Given the description of an element on the screen output the (x, y) to click on. 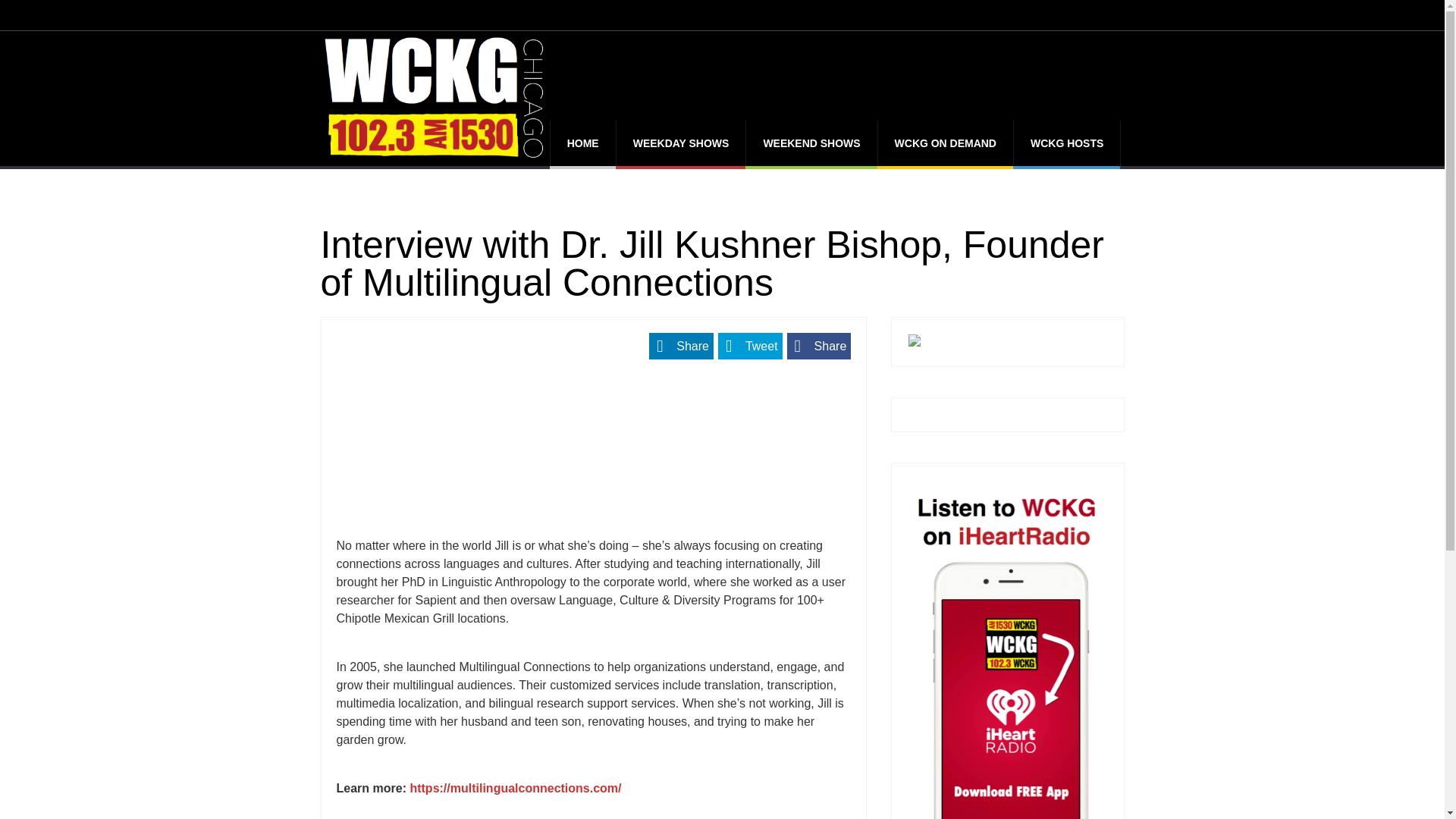
WCKG HOSTS (1066, 143)
Share (681, 345)
WEEKDAY SHOWS (680, 143)
WCKG ON DEMAND (945, 143)
Share (819, 345)
HOME (582, 143)
WEEKEND SHOWS (810, 143)
Tweet (750, 345)
